Given the description of an element on the screen output the (x, y) to click on. 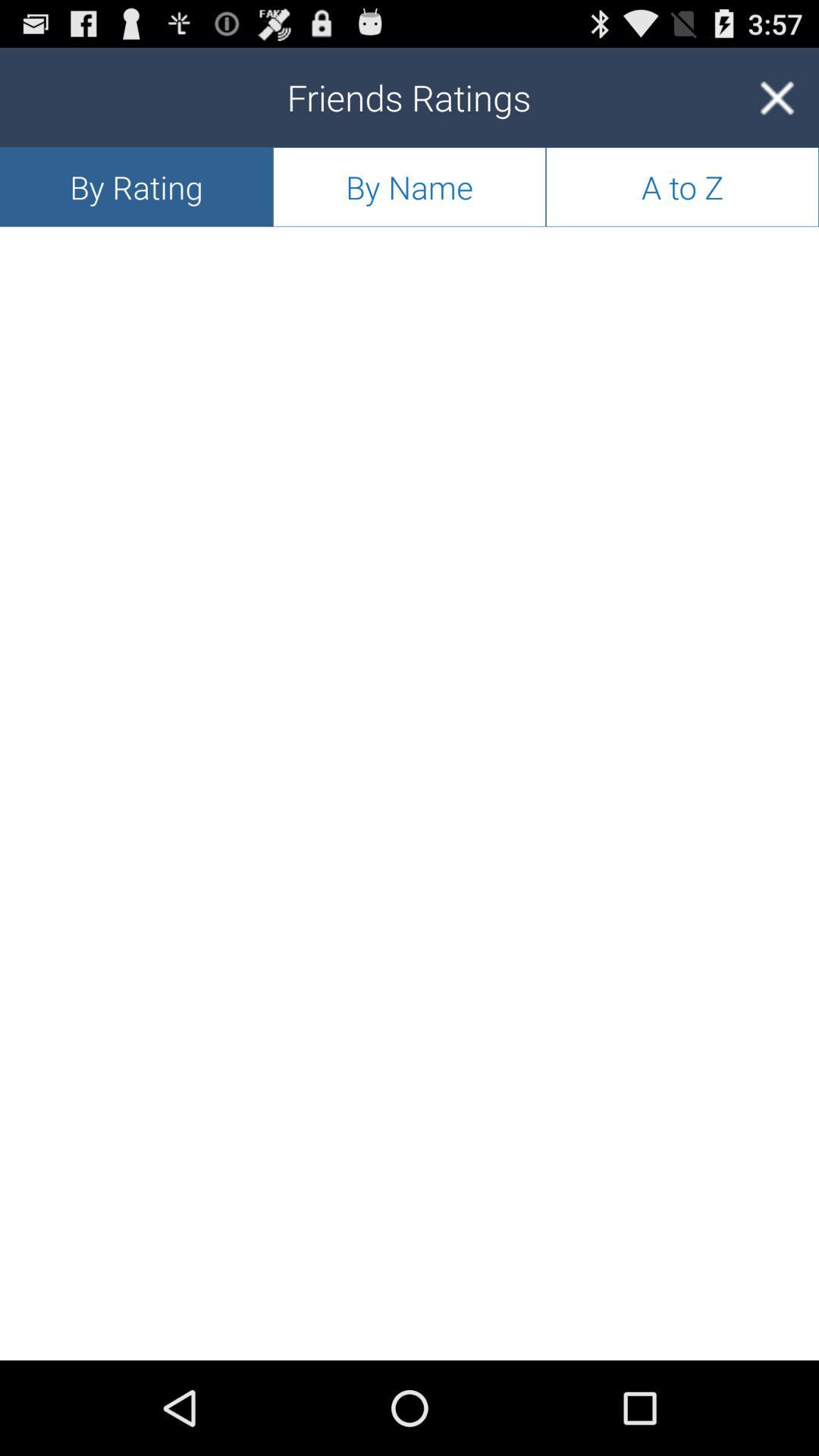
open item next to the a to z icon (409, 186)
